Given the description of an element on the screen output the (x, y) to click on. 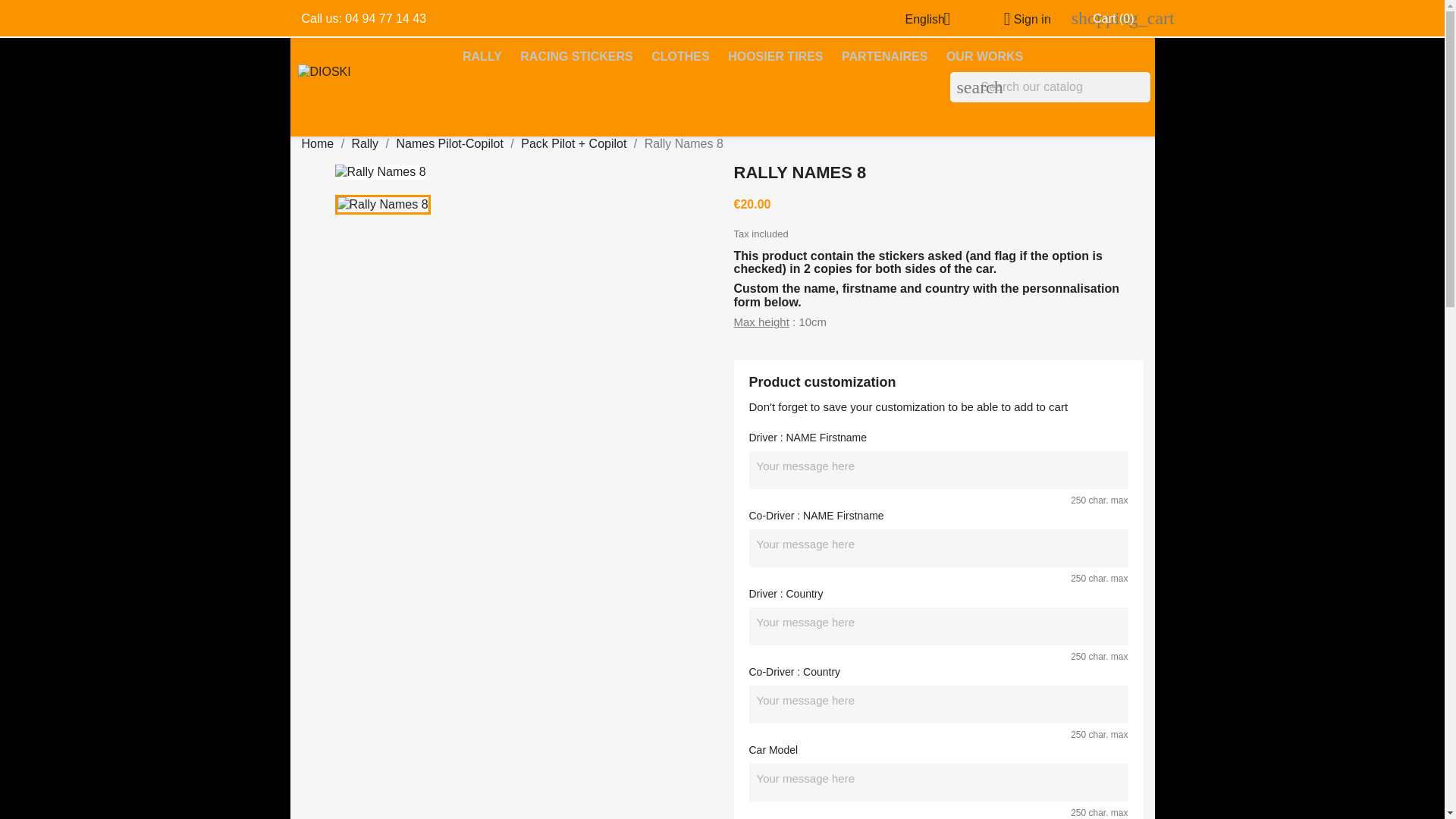
RALLY (481, 56)
Log in to your customer account (1020, 19)
